Given the description of an element on the screen output the (x, y) to click on. 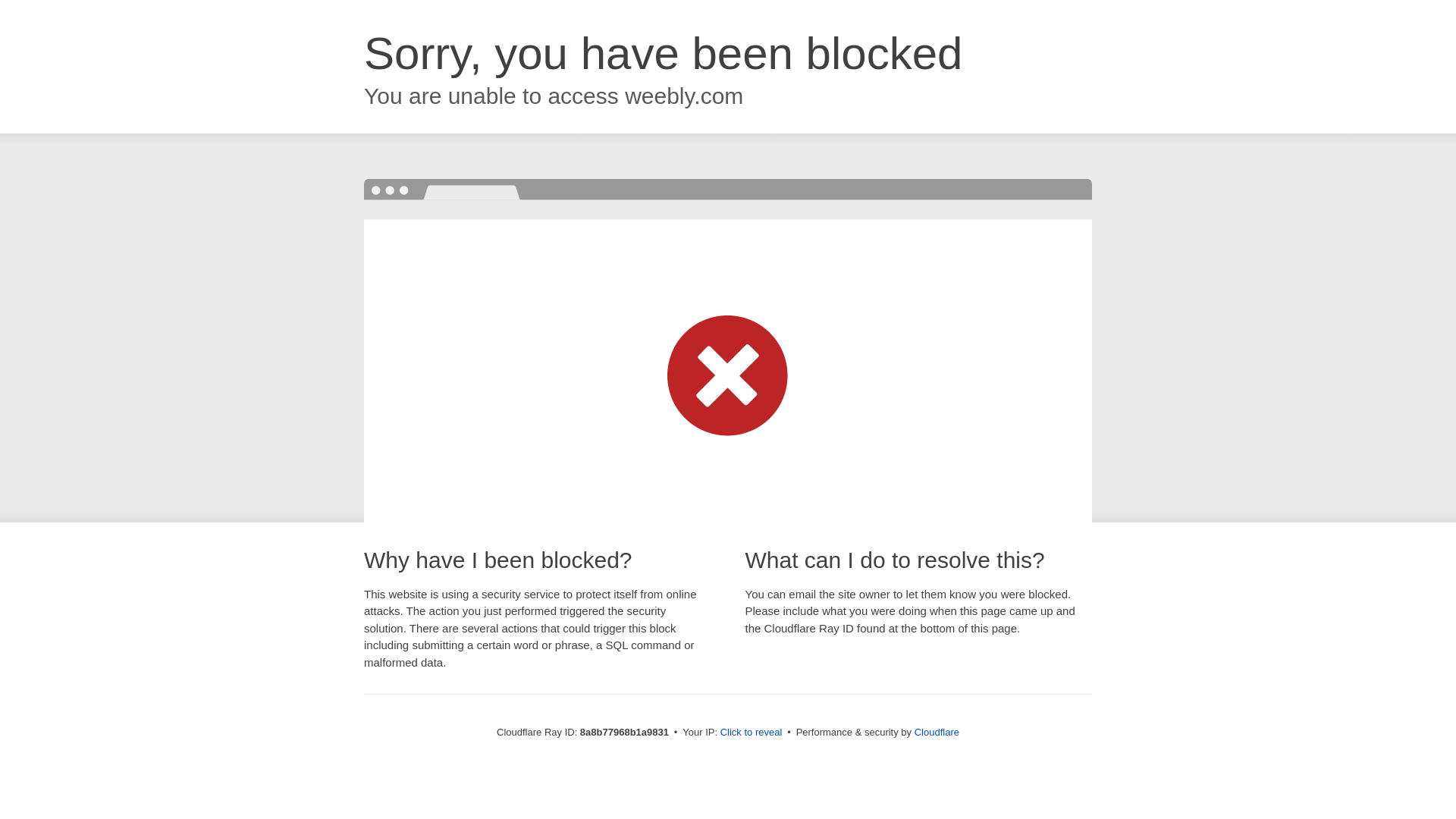
Click to reveal (751, 732)
Cloudflare (936, 731)
